Given the description of an element on the screen output the (x, y) to click on. 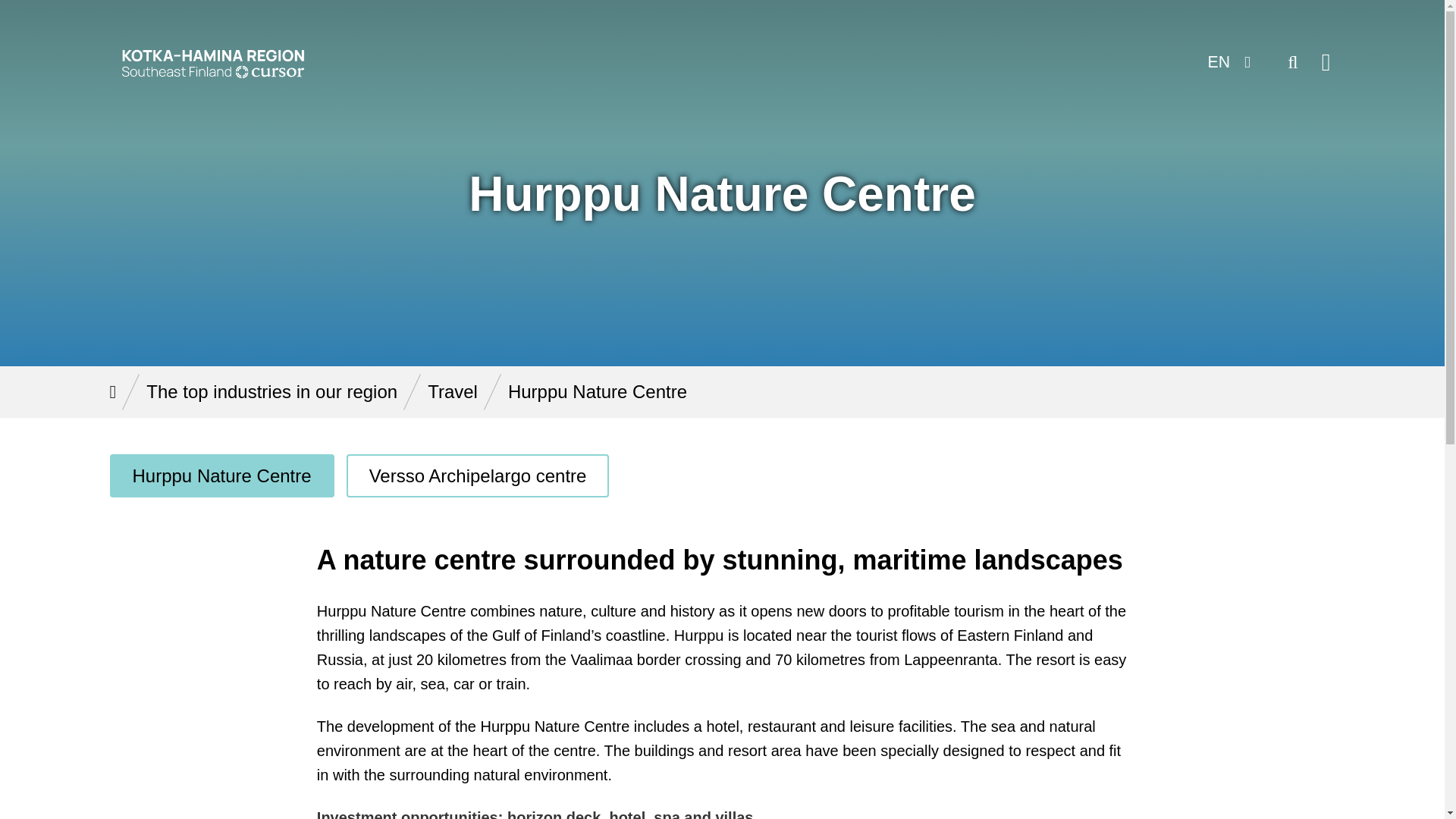
Search (1292, 62)
Versso Archipelargo centre (478, 475)
Hurppu Nature Centre (221, 475)
The top industries in our region (272, 391)
EN (1227, 62)
Travel (452, 391)
